Given the description of an element on the screen output the (x, y) to click on. 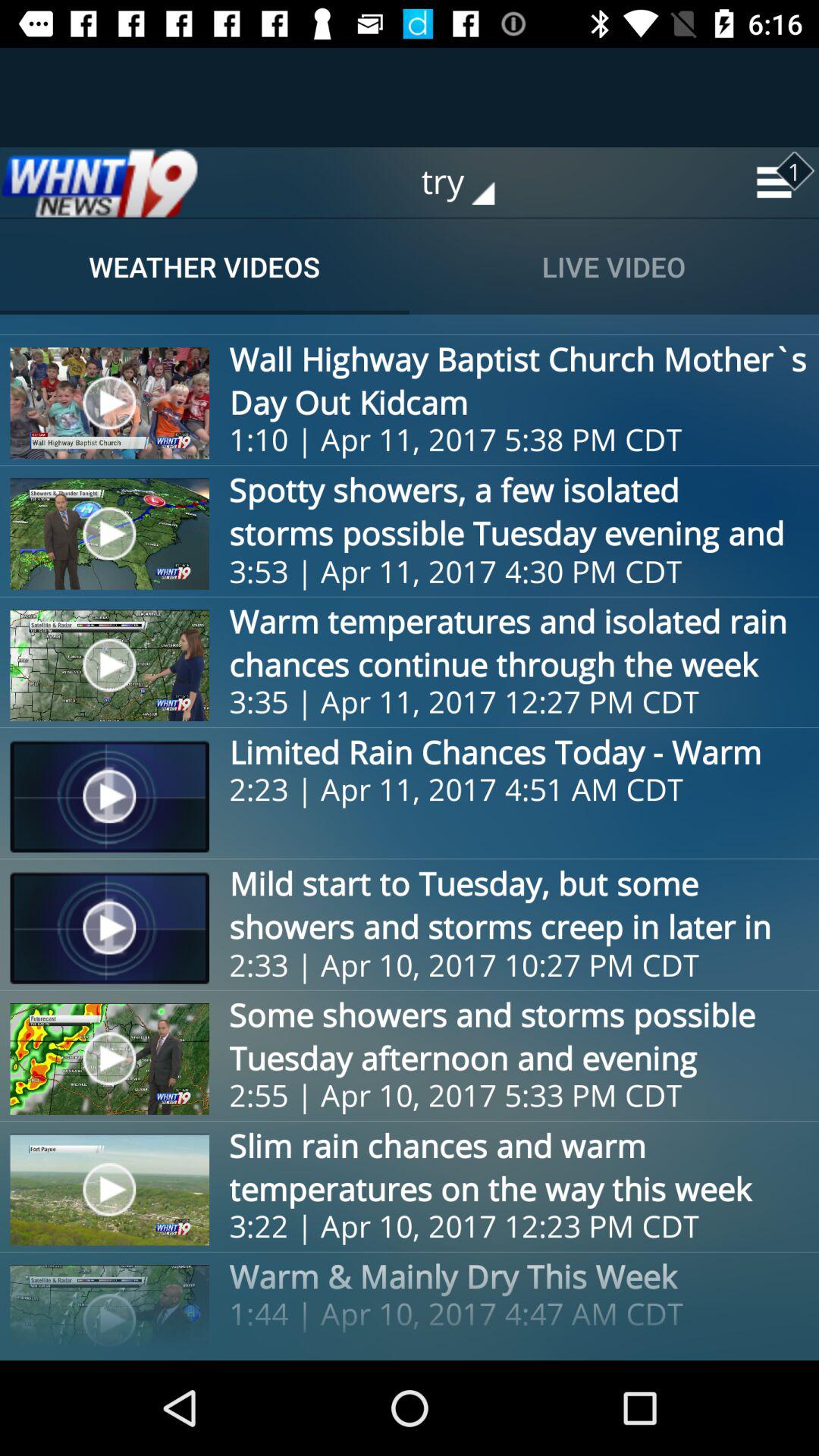
launch icon to the left of the try icon (99, 182)
